Given the description of an element on the screen output the (x, y) to click on. 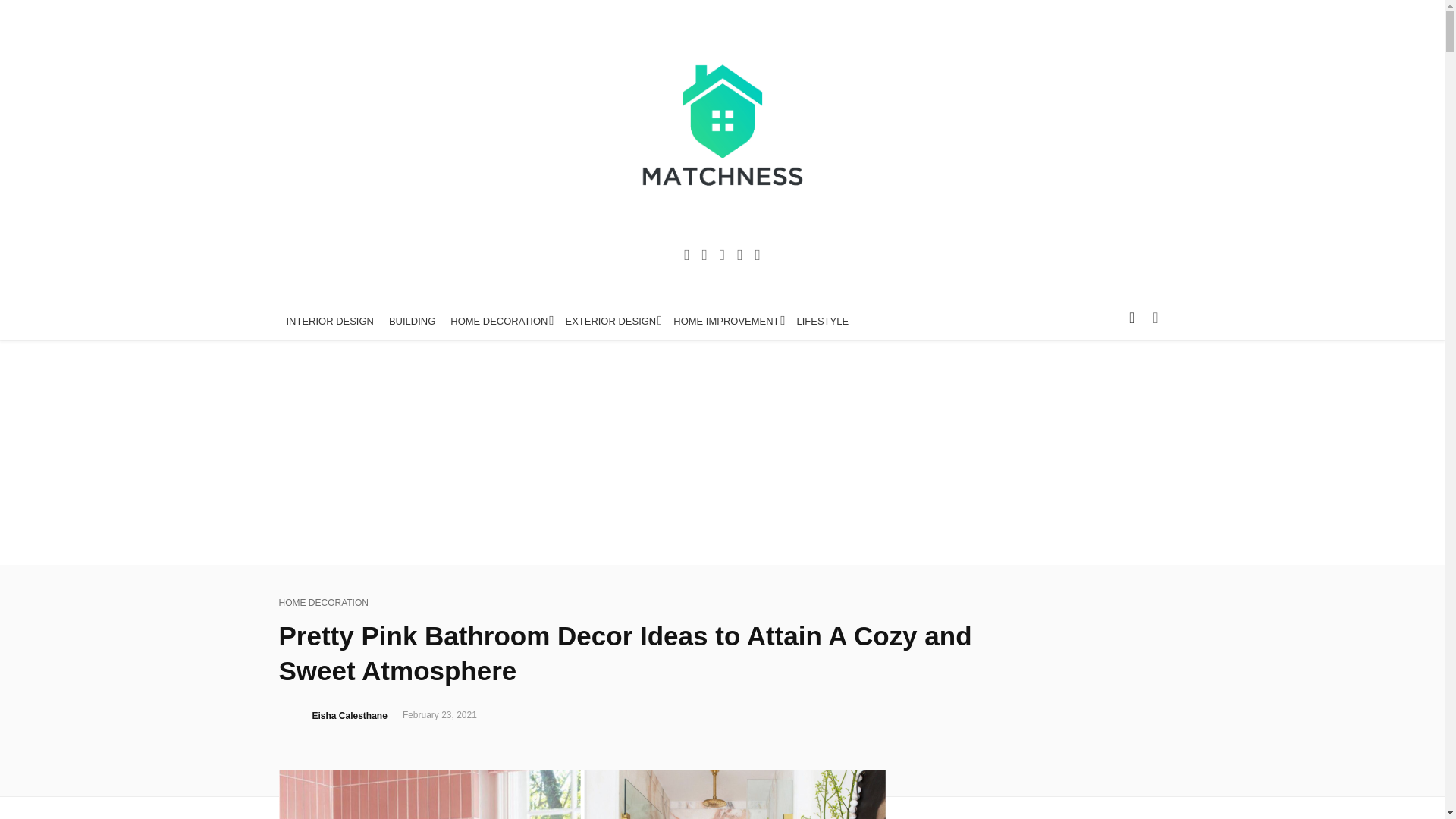
INTERIOR DESIGN (330, 320)
Eisha Calesthane (350, 715)
HOME DECORATION (499, 320)
LIFESTYLE (823, 320)
HOME IMPROVEMENT (727, 320)
EXTERIOR DESIGN (611, 320)
February 23, 2021 at 9:26 am (440, 715)
BUILDING (411, 320)
HOME DECORATION (323, 603)
